Given the description of an element on the screen output the (x, y) to click on. 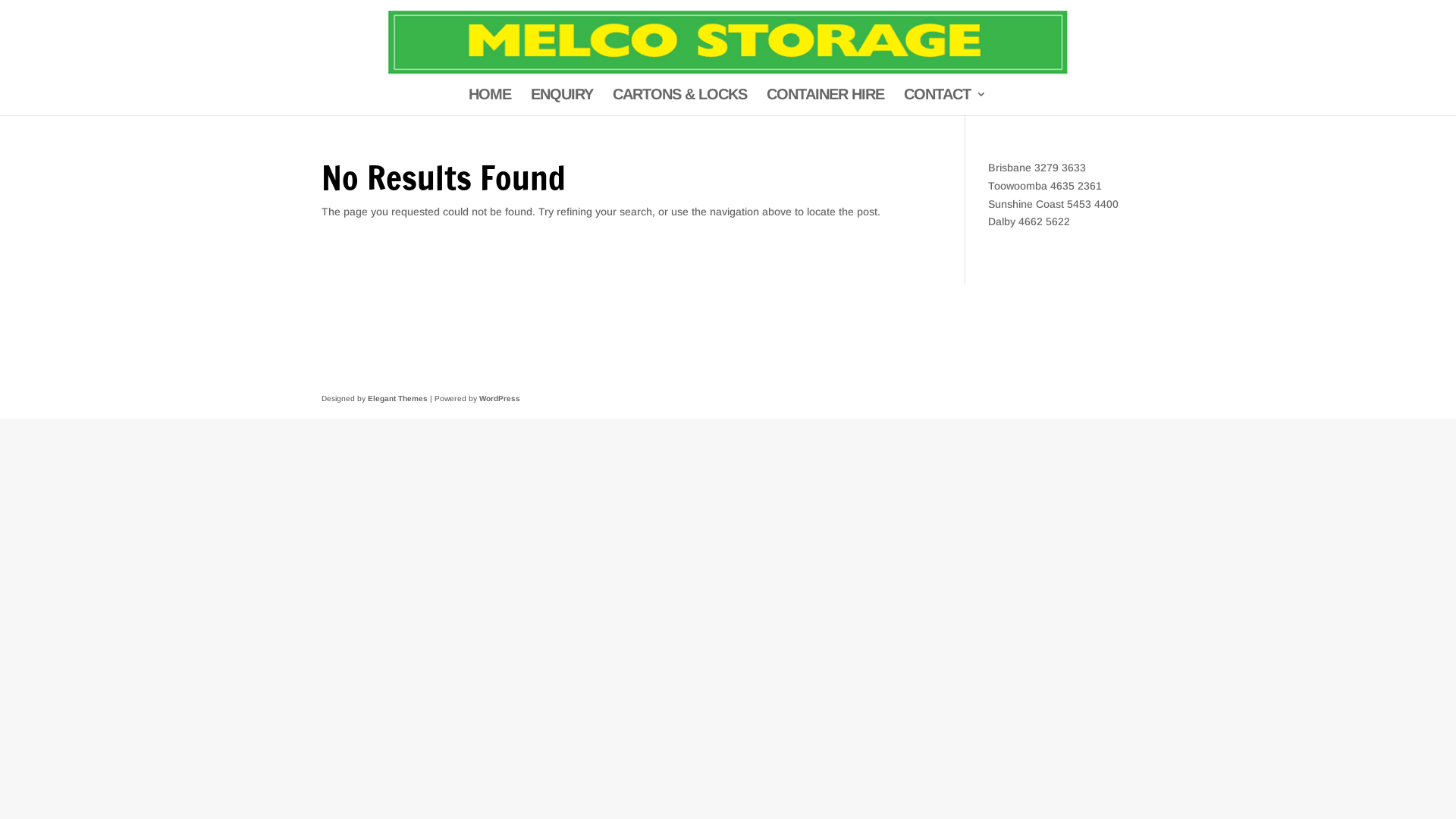
CARTONS & LOCKS Element type: text (679, 101)
ENQUIRY Element type: text (561, 101)
WordPress Element type: text (499, 398)
CONTACT Element type: text (944, 101)
HOME Element type: text (489, 101)
CONTAINER HIRE Element type: text (825, 101)
Elegant Themes Element type: text (396, 398)
